Given the description of an element on the screen output the (x, y) to click on. 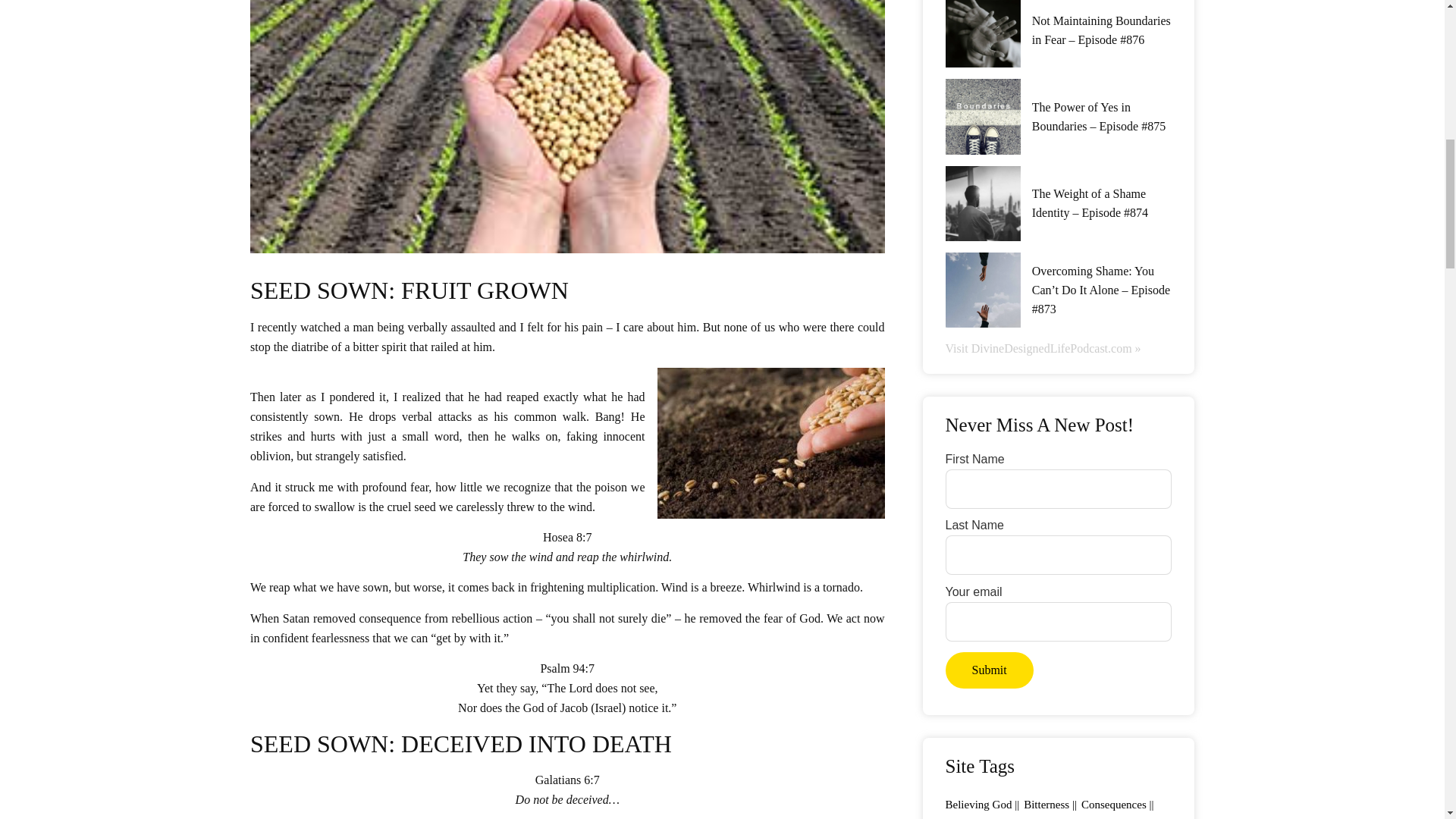
Submit (988, 669)
Submit (988, 669)
